Given the description of an element on the screen output the (x, y) to click on. 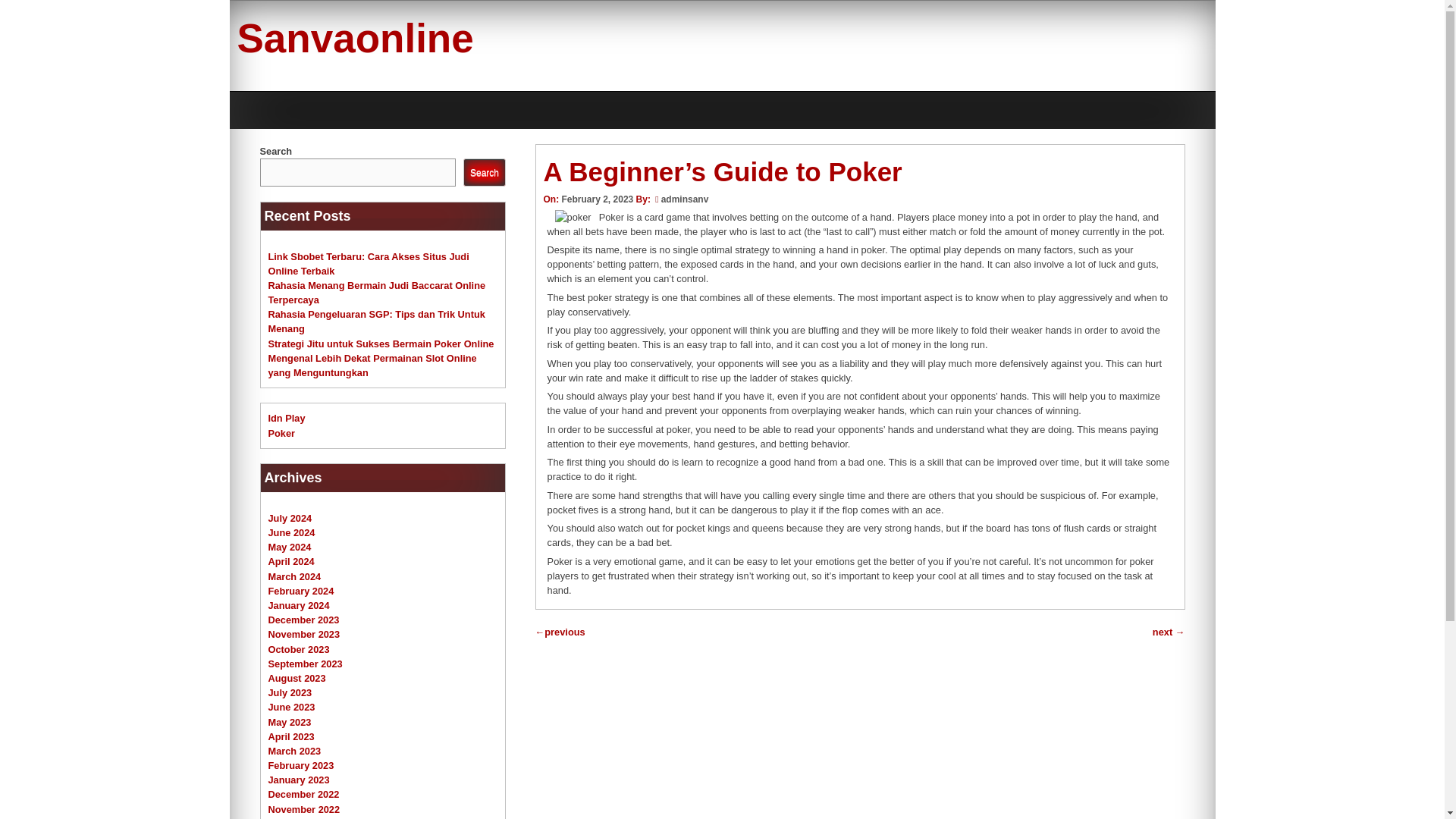
Search (484, 172)
May 2023 (289, 721)
February 2024 (300, 591)
Rahasia Menang Bermain Judi Baccarat Online Terpercaya (376, 292)
November 2022 (303, 808)
October 2022 (298, 818)
November 2023 (303, 633)
April 2024 (290, 561)
Rahasia Pengeluaran SGP: Tips dan Trik Untuk Menang (375, 321)
April 2023 (290, 736)
Sanvaonline (354, 37)
March 2023 (294, 750)
Poker (281, 432)
Strategi Jitu untuk Sukses Bermain Poker Online (381, 343)
October 2023 (298, 649)
